Given the description of an element on the screen output the (x, y) to click on. 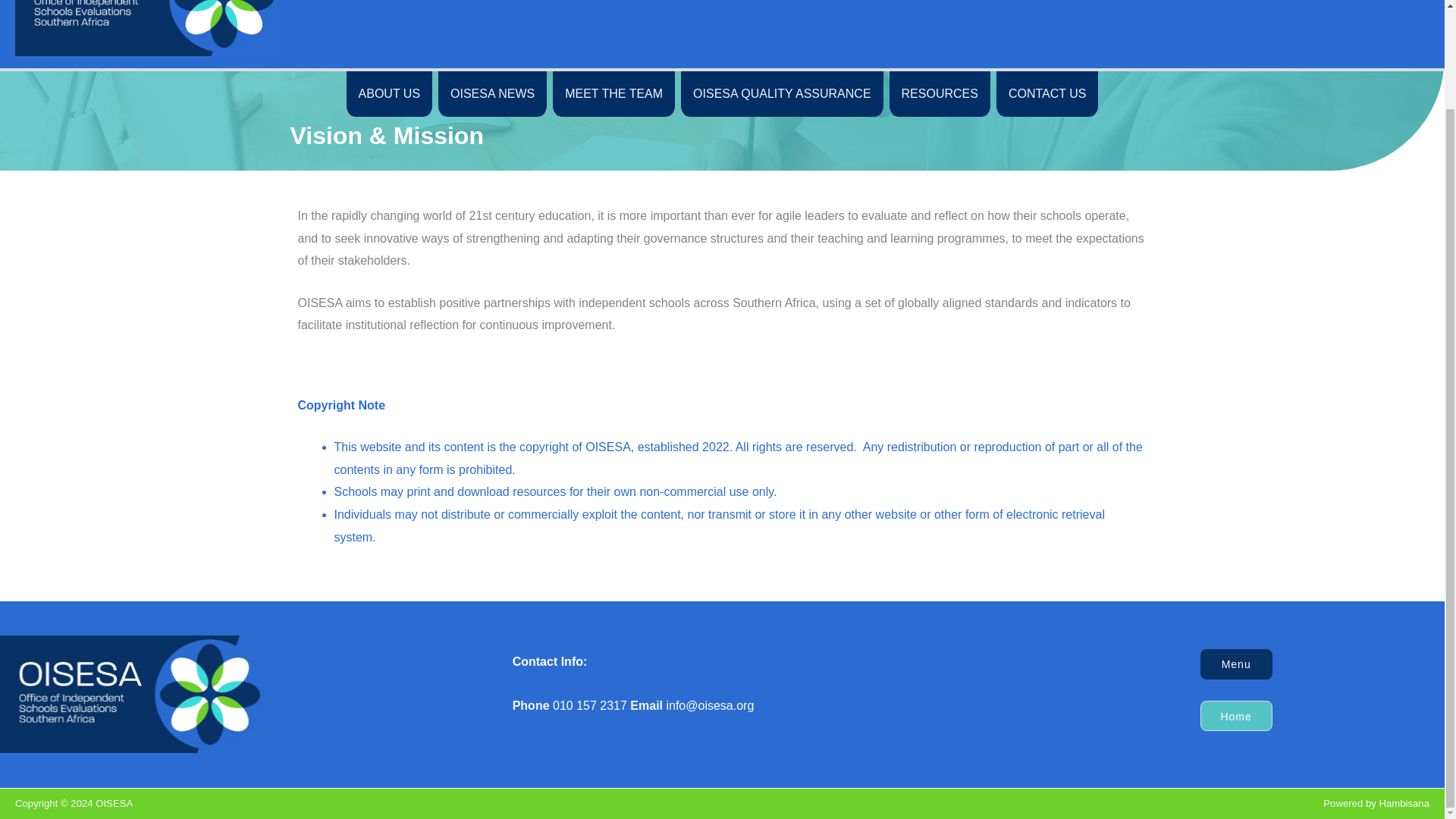
OISESA NEWS (492, 94)
OISESA QUALITY ASSURANCE (781, 94)
RESOURCES (939, 94)
CONTACT US (1047, 94)
ABOUT US (389, 94)
MEET THE TEAM (614, 94)
